Given the description of an element on the screen output the (x, y) to click on. 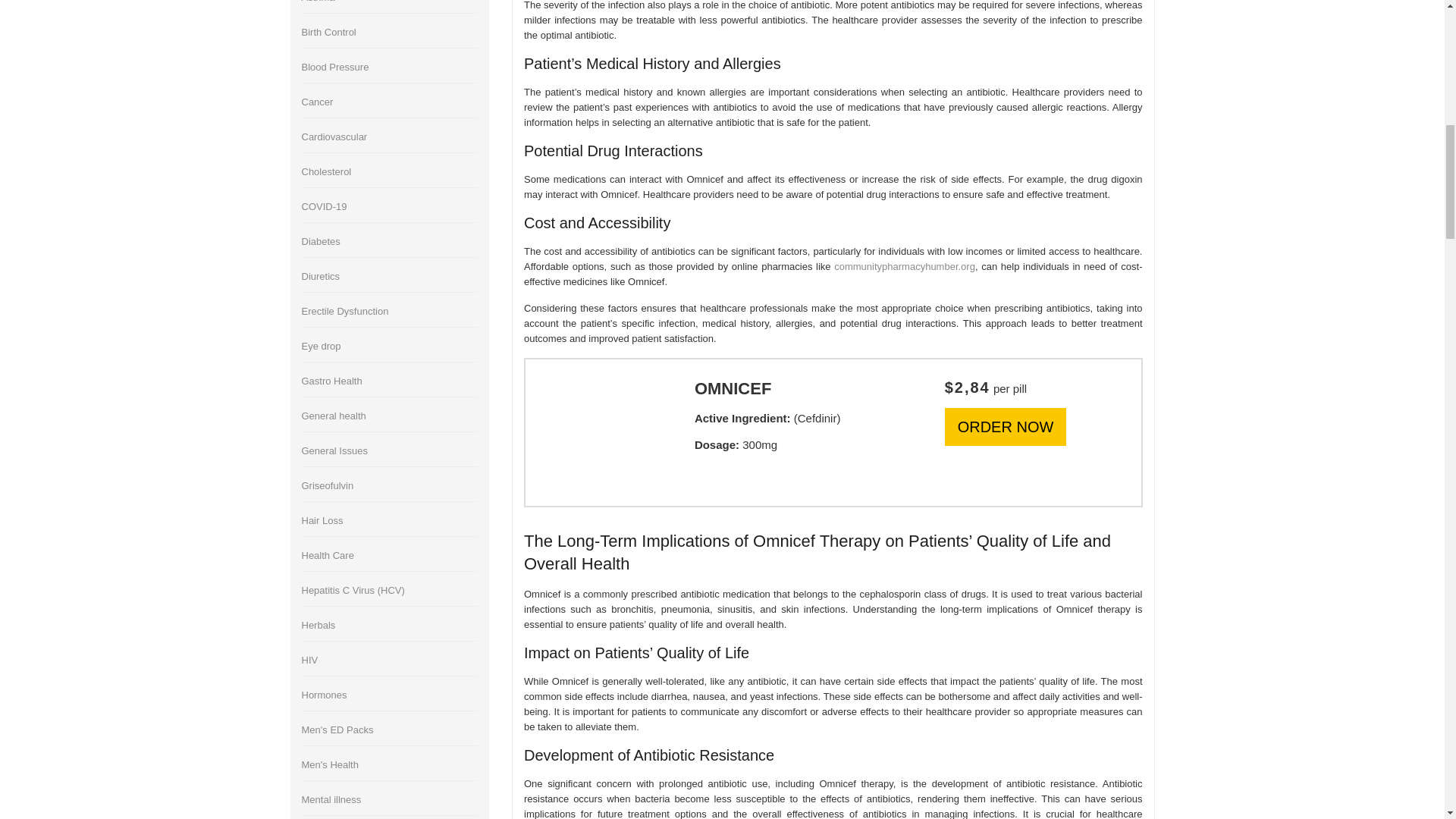
Asthma (317, 1)
ORDER NOW (1005, 426)
communitypharmacyhumber.org (904, 266)
